Given the description of an element on the screen output the (x, y) to click on. 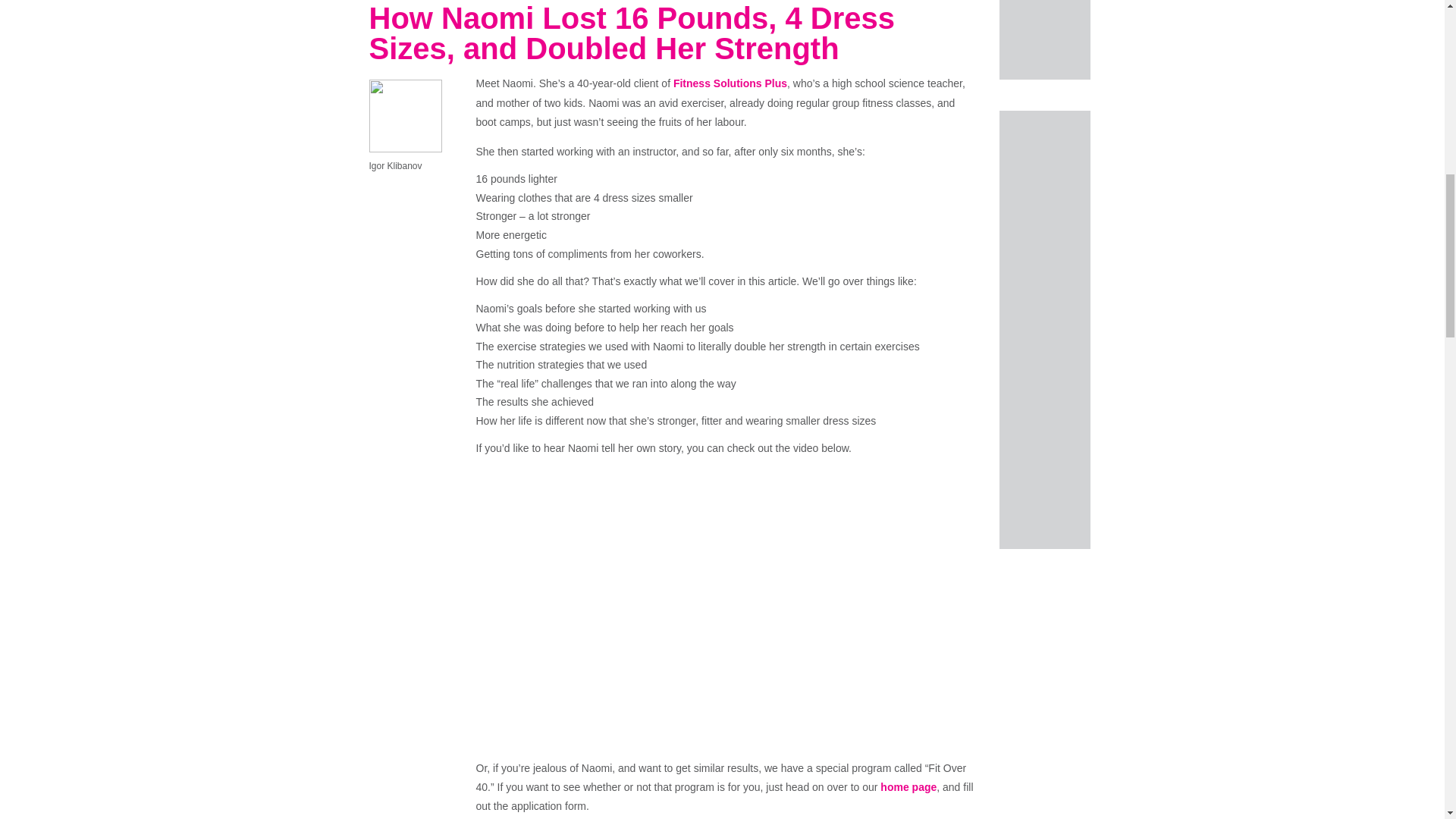
Fitness Solutions Plus (729, 82)
home page (908, 787)
